Given the description of an element on the screen output the (x, y) to click on. 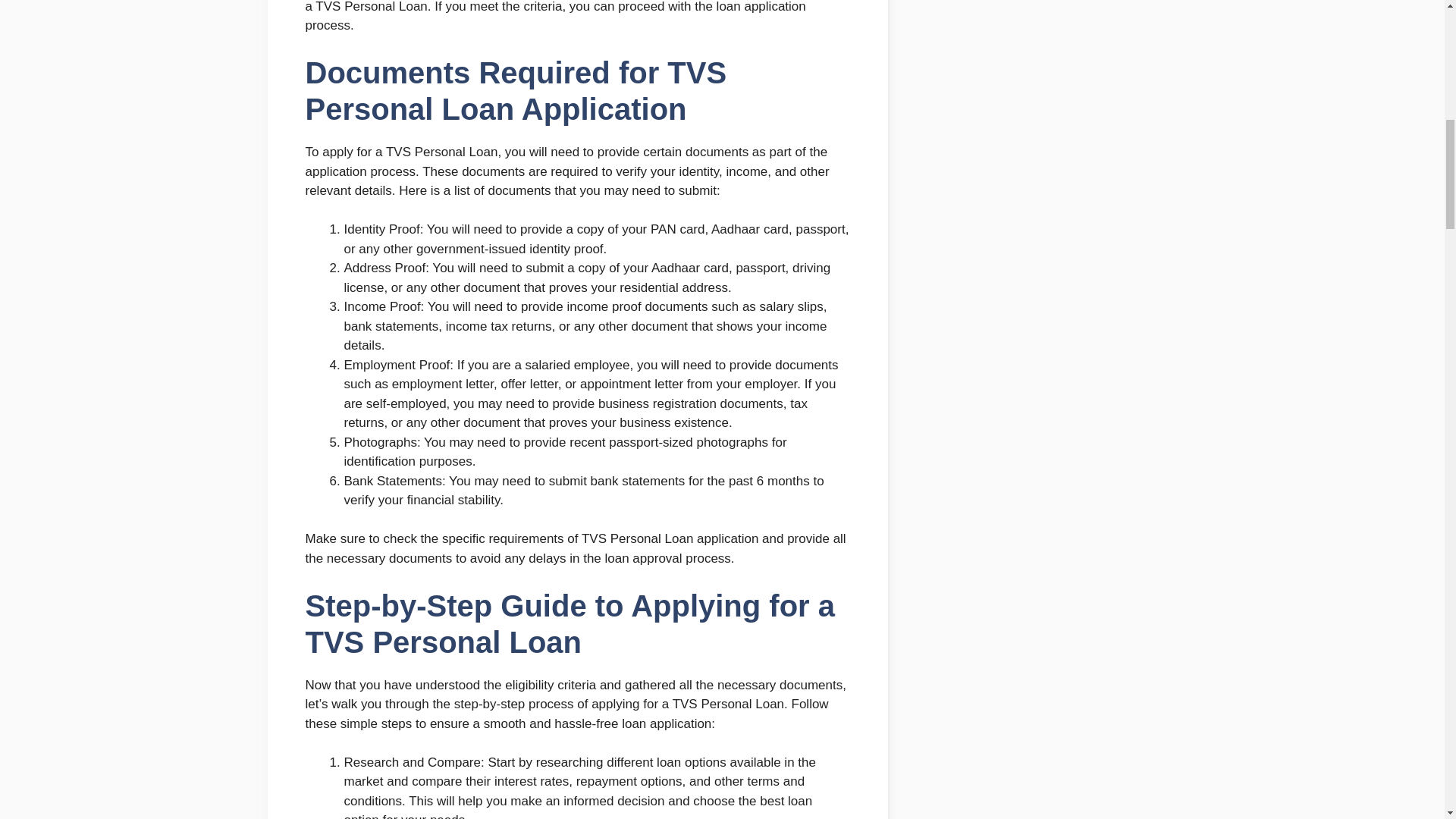
Scroll back to top (1406, 720)
